Given the description of an element on the screen output the (x, y) to click on. 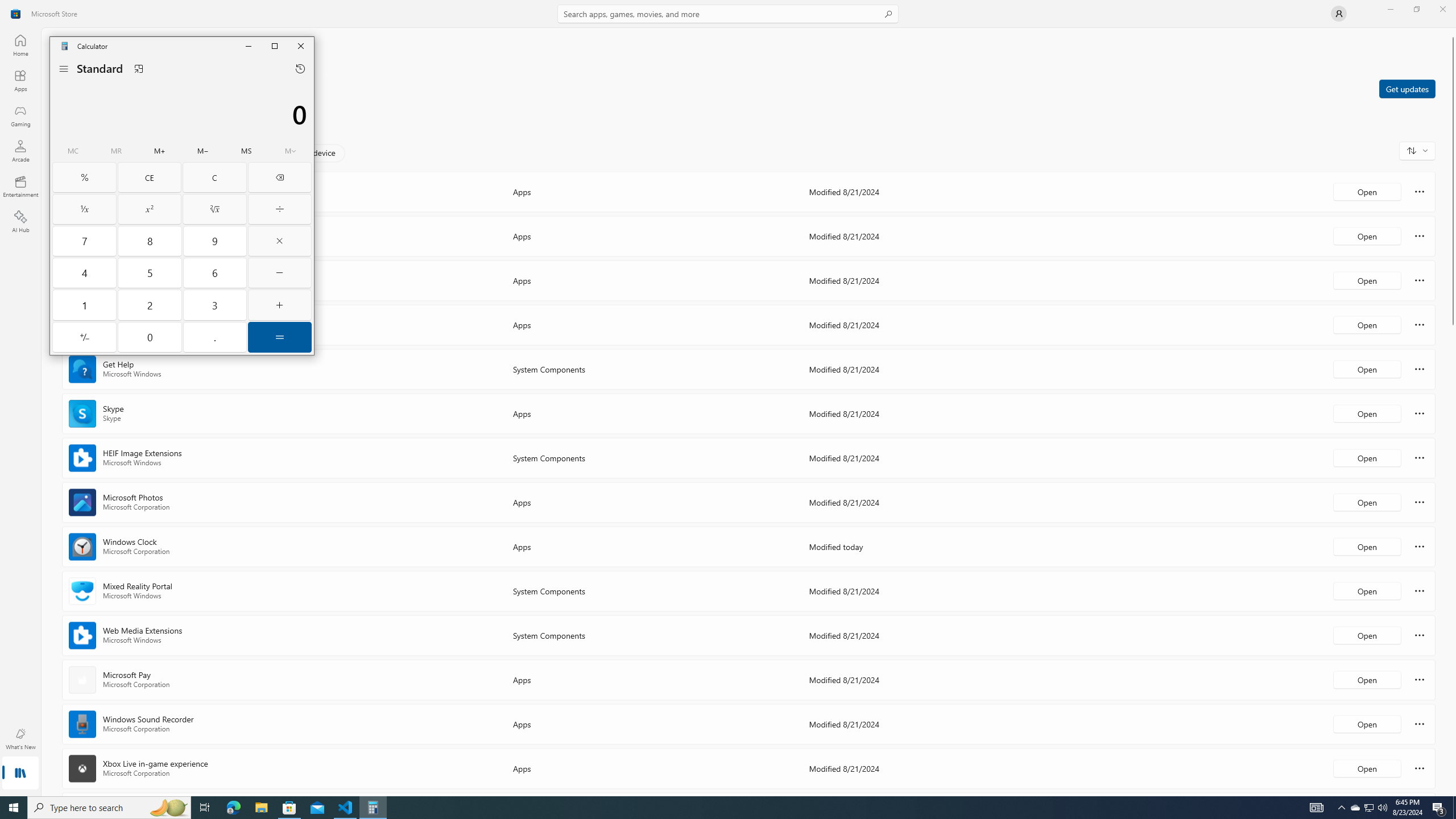
Notification Chevron (1341, 807)
Entertainment (20, 185)
Two (149, 305)
Minimize Calculator (248, 45)
Type here to search (108, 807)
Maximize Calculator (275, 45)
More options (1419, 768)
Positive negative (84, 336)
Close Calculator (301, 45)
Visual Studio Code - 1 running window (345, 807)
Memory subtract (1368, 807)
File Explorer (203, 151)
Microsoft Edge (261, 807)
Vertical (233, 807)
